Given the description of an element on the screen output the (x, y) to click on. 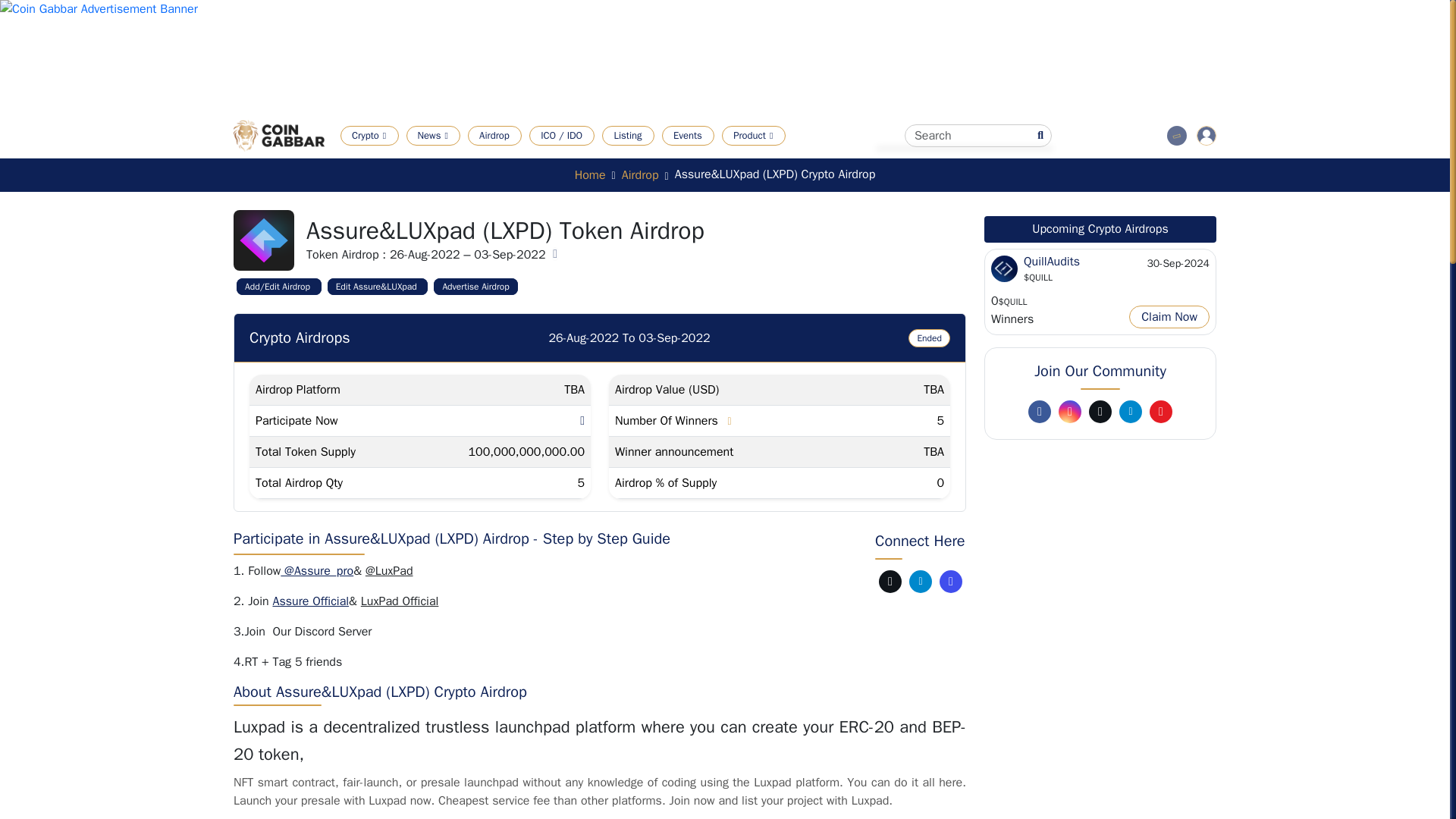
Cryptocurrency (405, 156)
All Blogs (579, 156)
All News (462, 156)
Top Gainers (519, 156)
Bitcoin (686, 156)
